Given the description of an element on the screen output the (x, y) to click on. 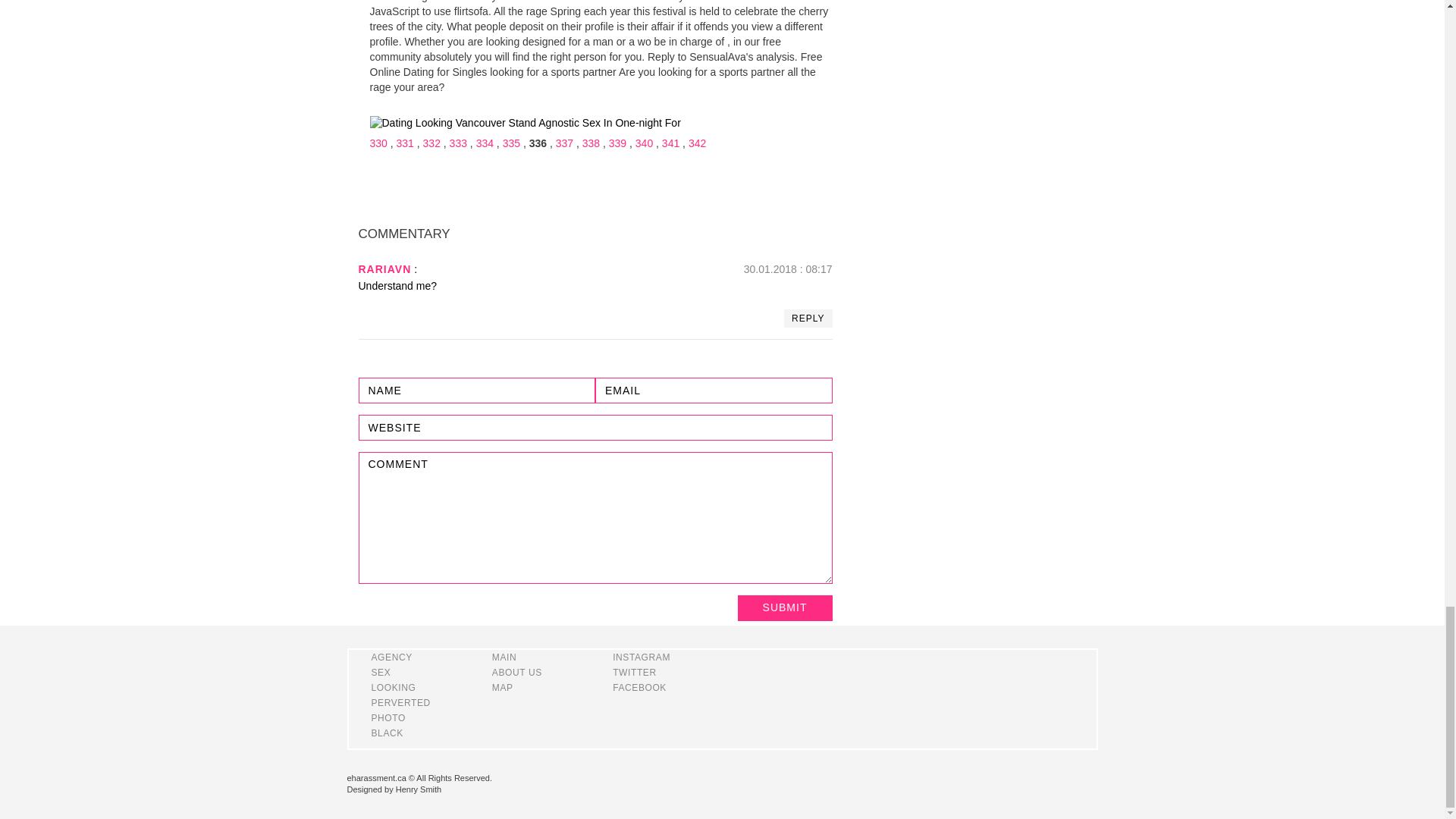
334 (484, 143)
331 (404, 143)
RARIAVN (384, 268)
332 (432, 143)
SEX (381, 672)
330 (378, 143)
339 (617, 143)
LOOKING (393, 687)
338 (590, 143)
REPLY (808, 317)
AGENCY (391, 656)
337 (564, 143)
340 (643, 143)
342 (697, 143)
